Given the description of an element on the screen output the (x, y) to click on. 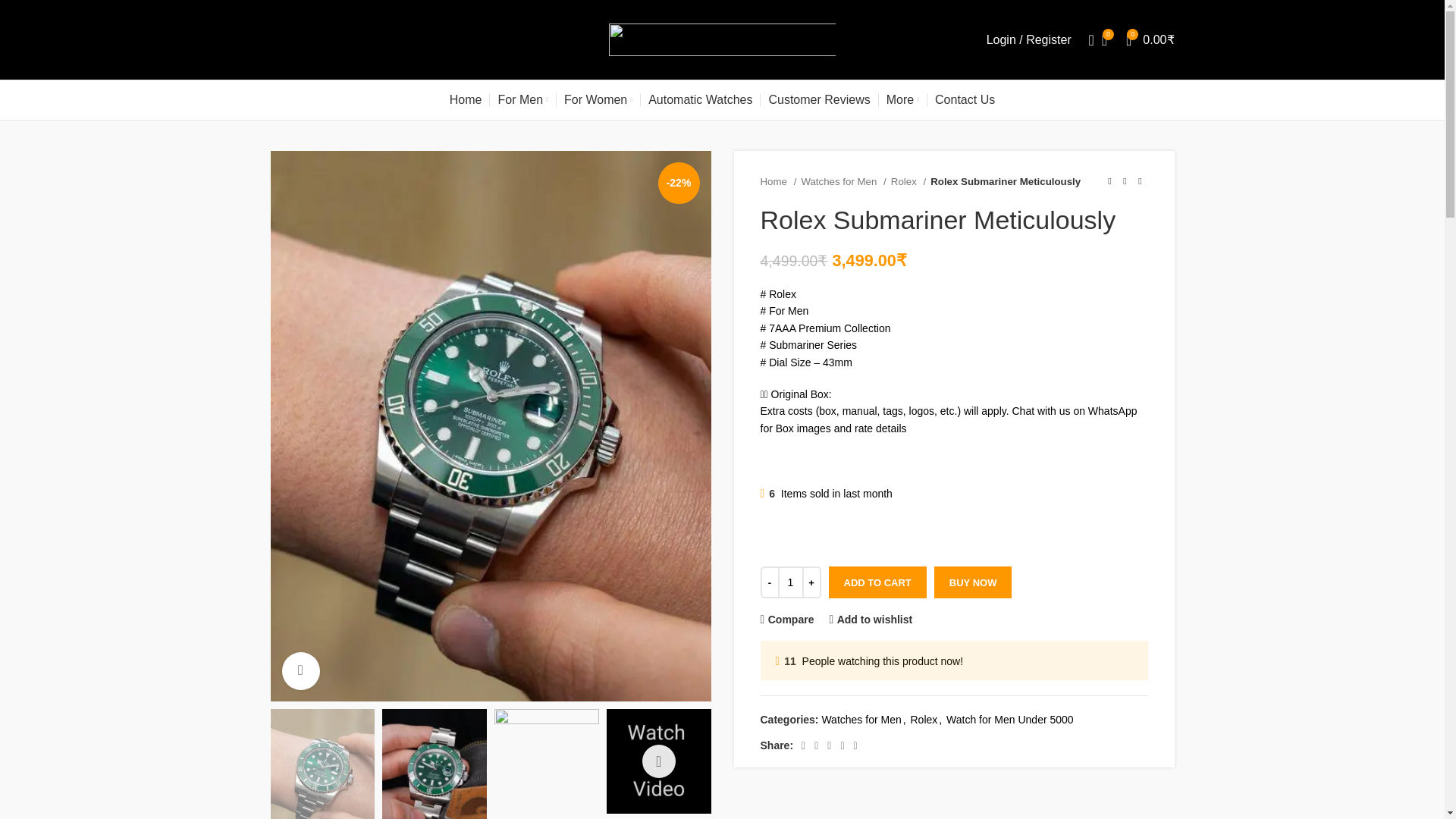
For Women (597, 100)
For Men (522, 100)
Shopping cart (1149, 39)
Automatic Watches (699, 100)
My account (1028, 39)
Home (465, 100)
